Given the description of an element on the screen output the (x, y) to click on. 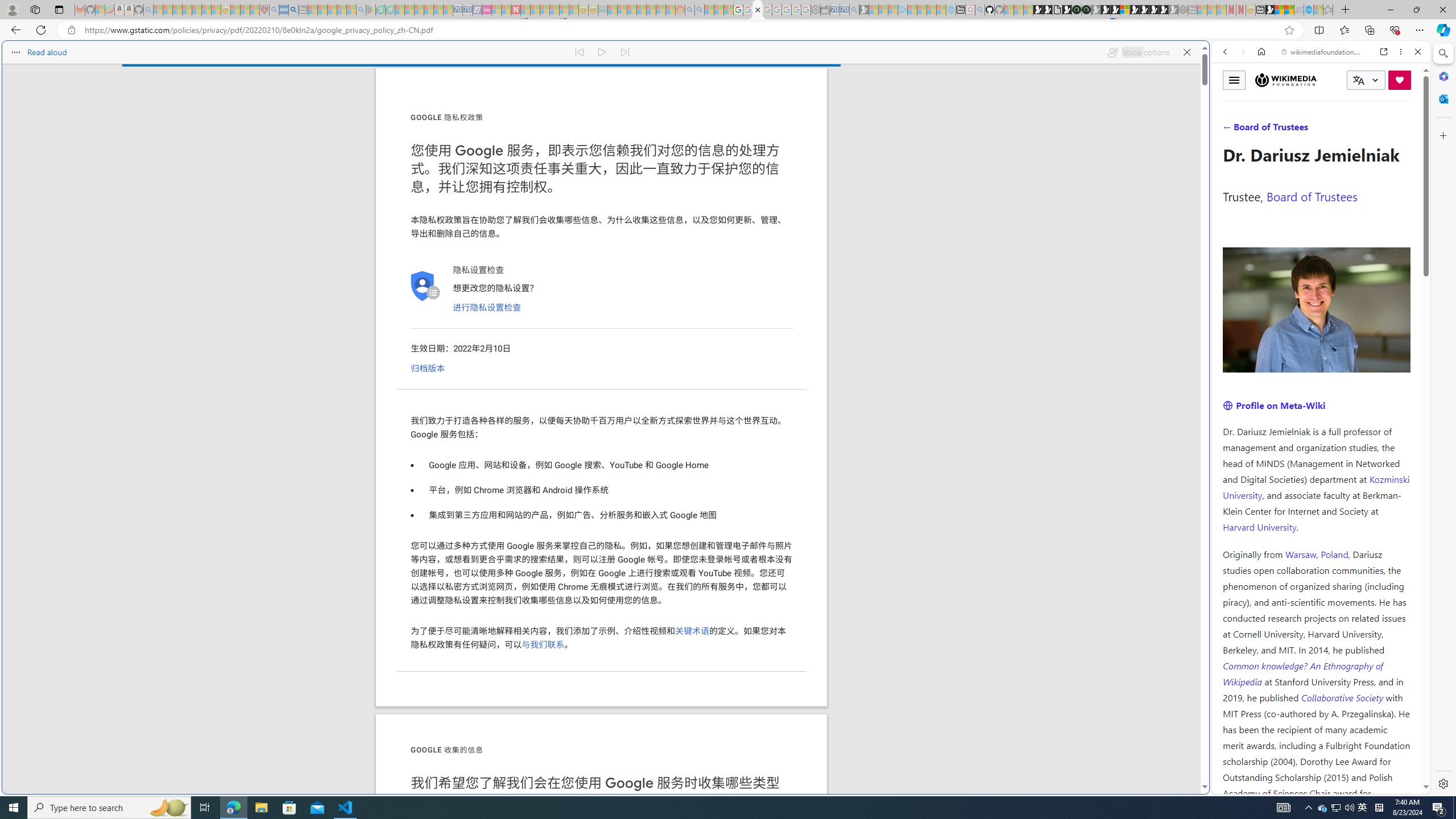
Bluey: Let's Play! - Apps on Google Play - Sleeping (370, 9)
Frequently visited (965, 151)
Tabs you've opened (885, 151)
